Given the description of an element on the screen output the (x, y) to click on. 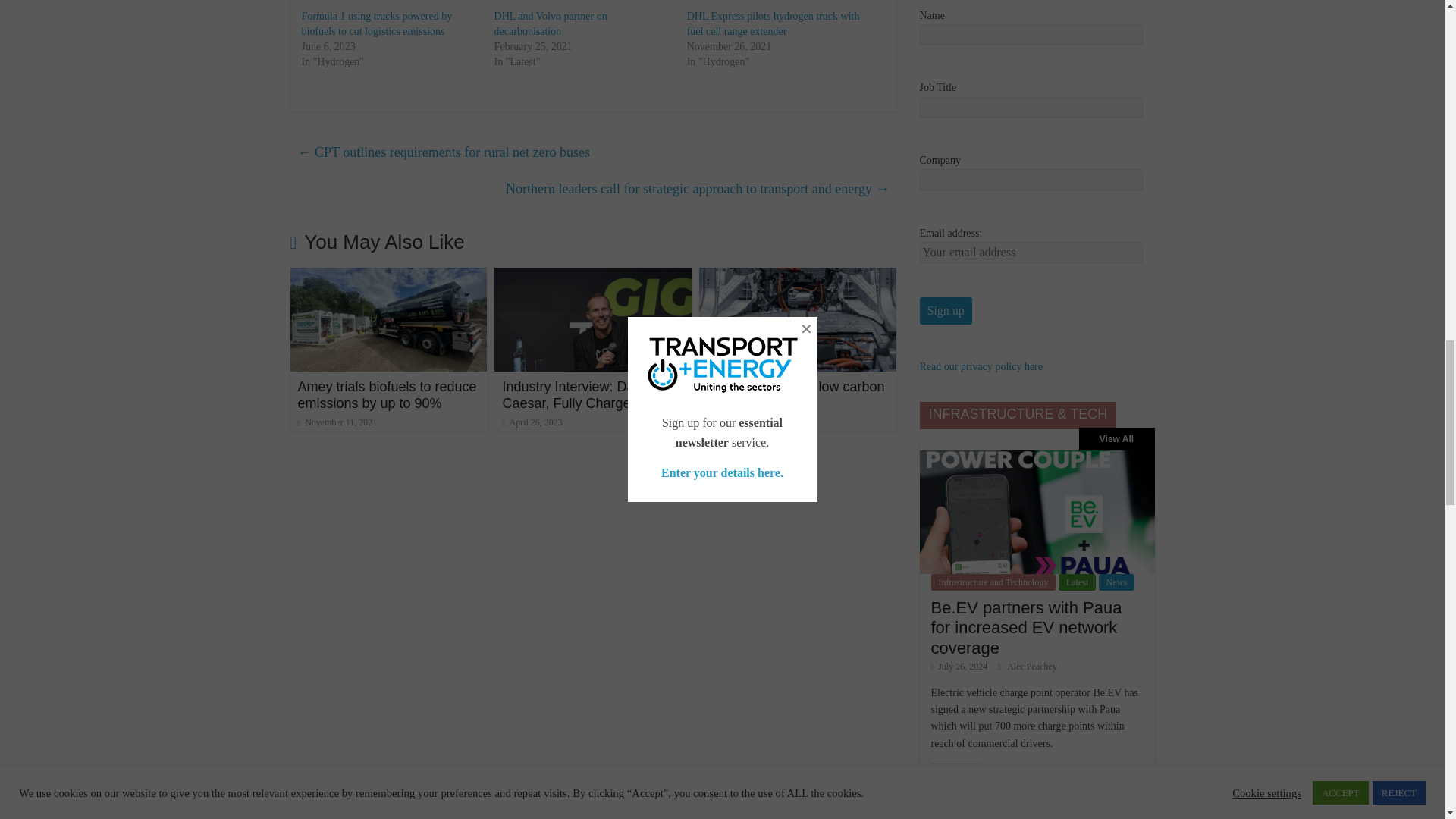
DHL and Volvo partner on decarbonisation (551, 23)
Sign up (944, 310)
